Given the description of an element on the screen output the (x, y) to click on. 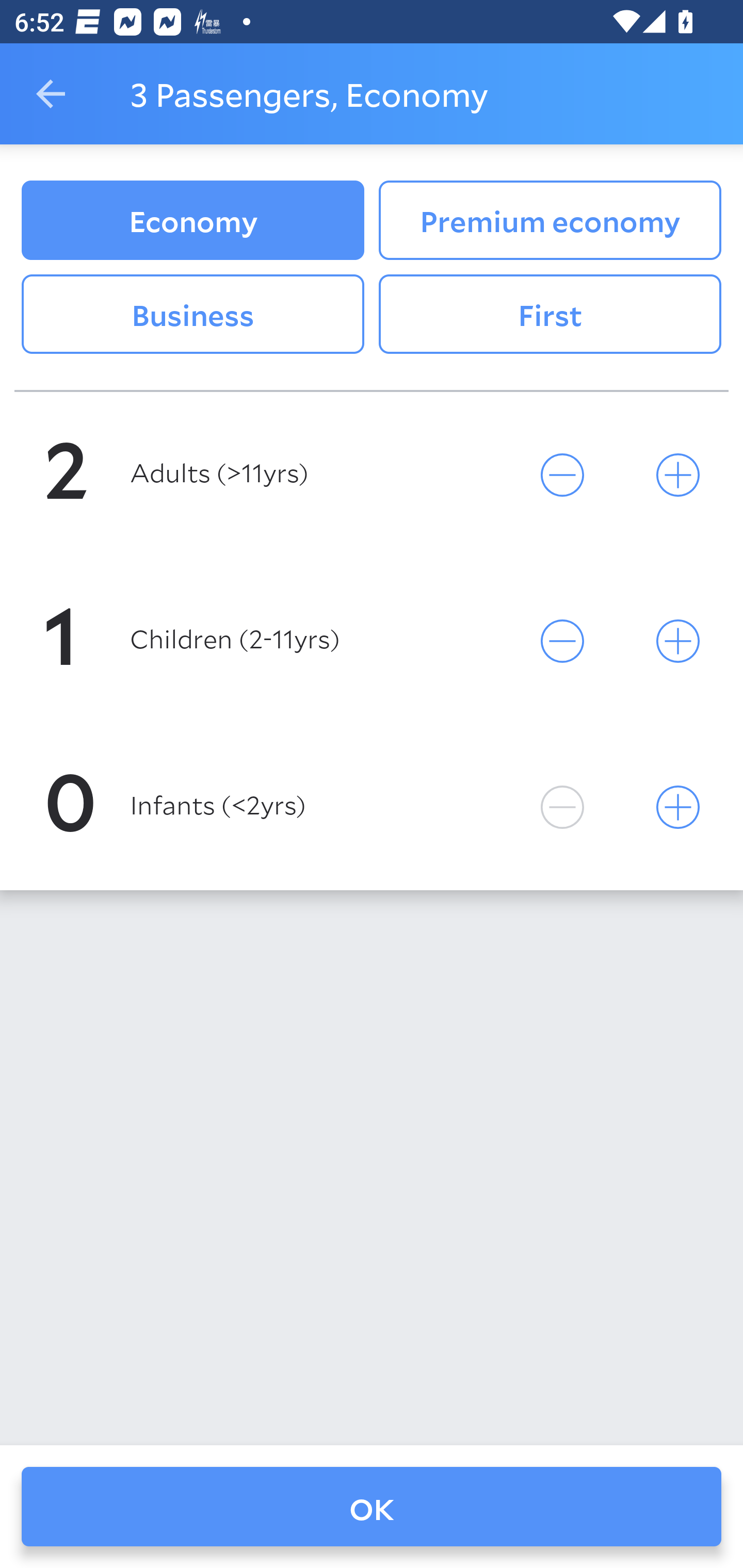
Navigate up (50, 93)
Economy (192, 220)
Premium economy (549, 220)
Business (192, 314)
First (549, 314)
OK (371, 1506)
